Given the description of an element on the screen output the (x, y) to click on. 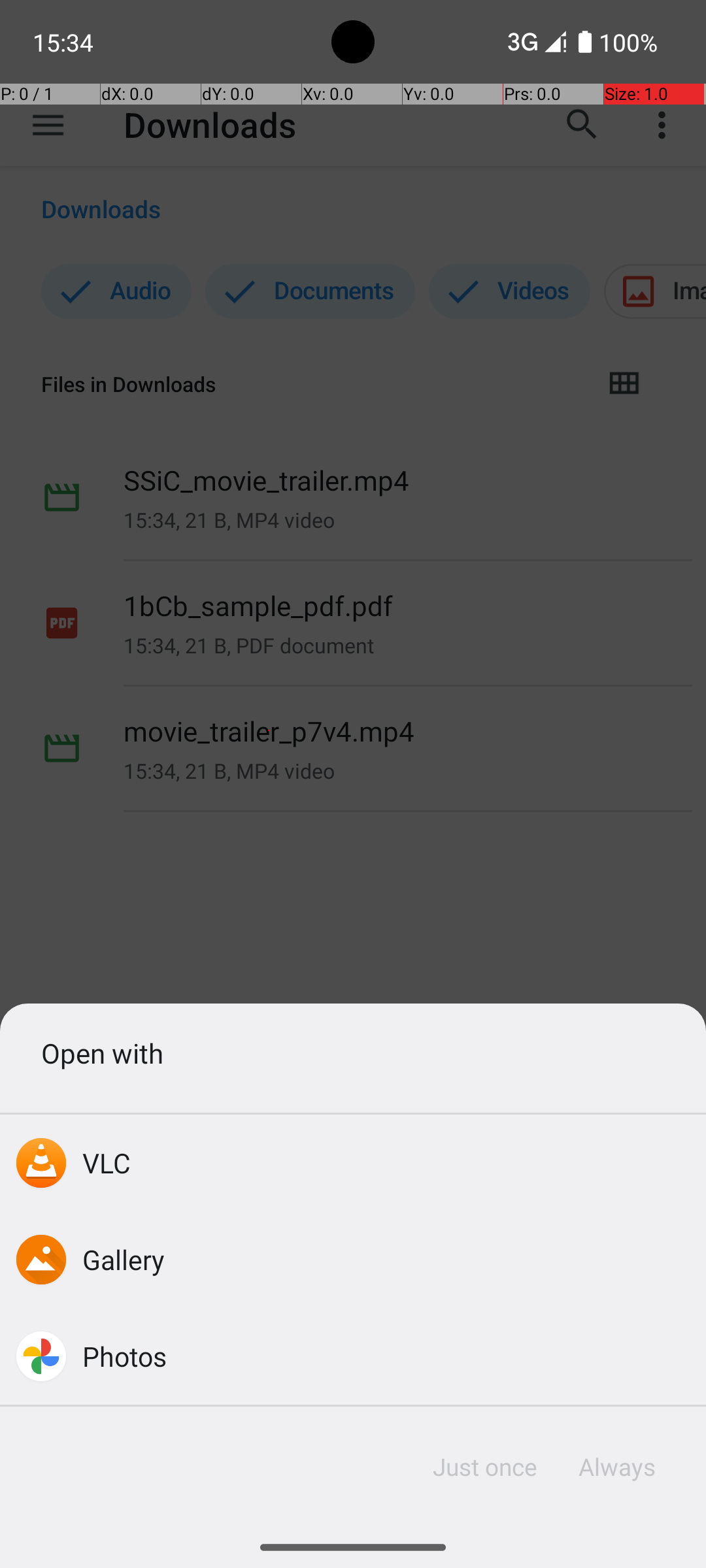
Open with Element type: android.widget.TextView (352, 1052)
Just once Element type: android.widget.Button (484, 1466)
Always Element type: android.widget.Button (616, 1466)
VLC Element type: android.widget.TextView (106, 1162)
Gallery Element type: android.widget.TextView (123, 1258)
